Given the description of an element on the screen output the (x, y) to click on. 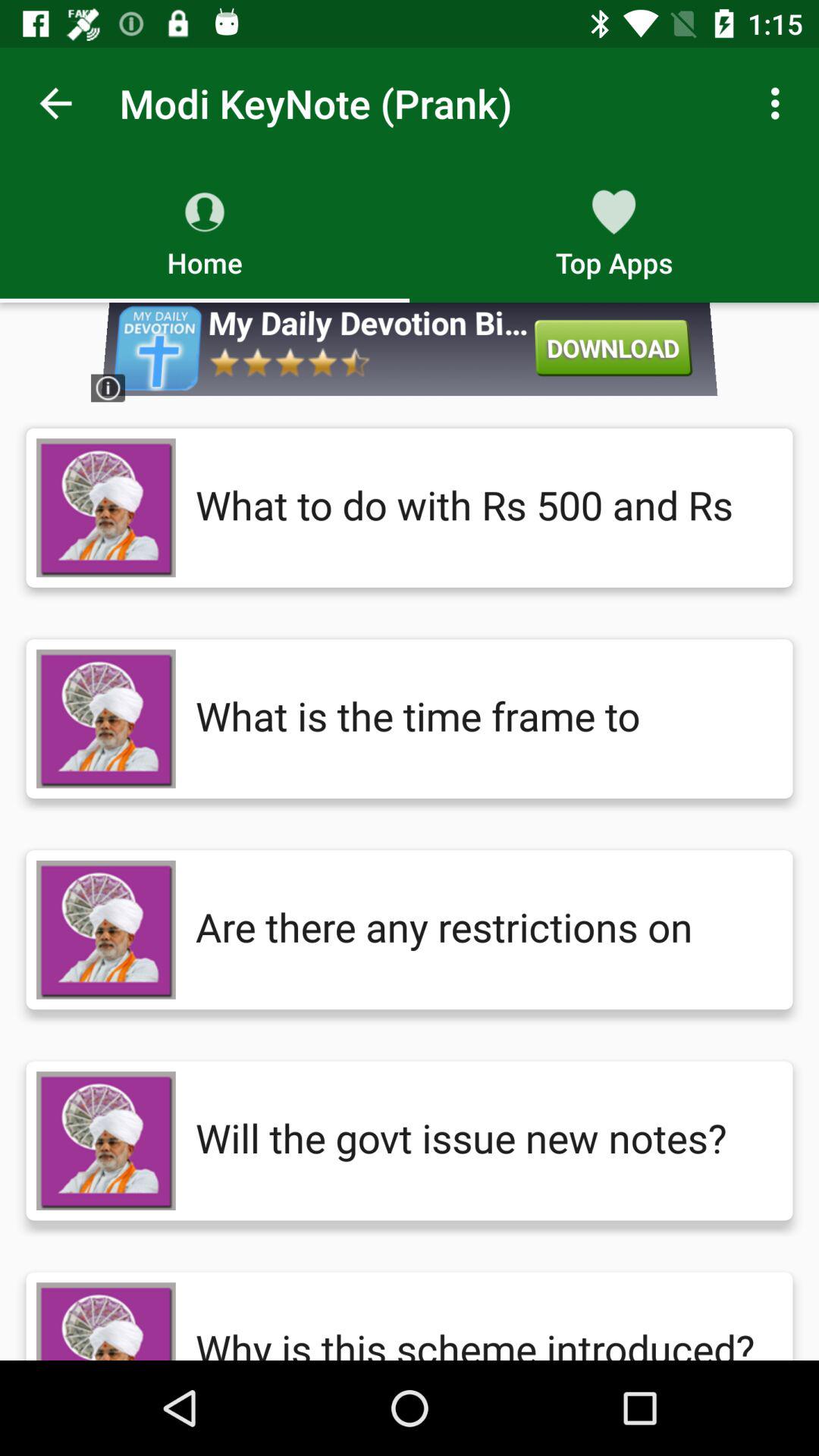
turn on the item above the home item (55, 103)
